Given the description of an element on the screen output the (x, y) to click on. 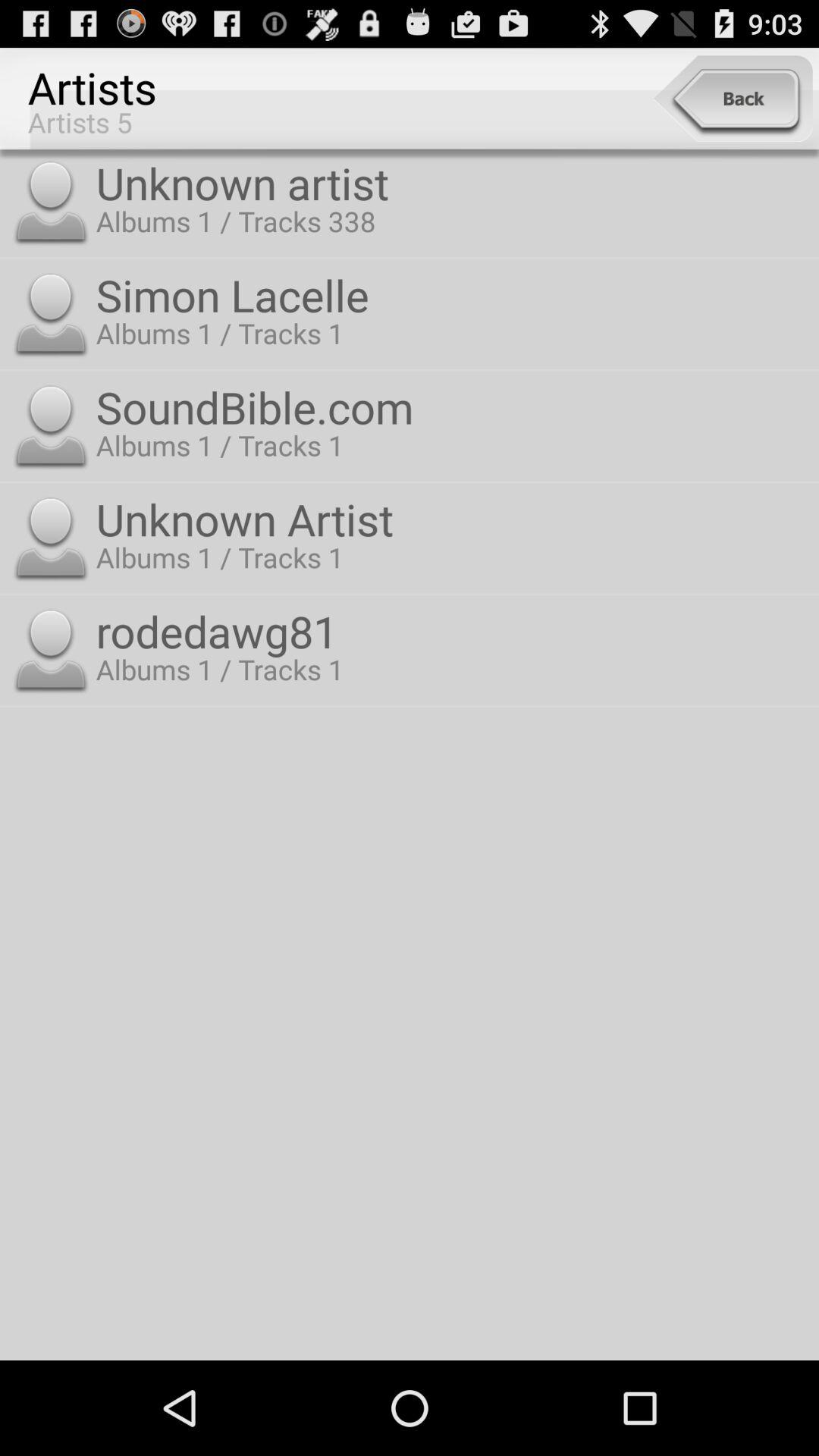
turn on the rodedawg81 icon (454, 630)
